Given the description of an element on the screen output the (x, y) to click on. 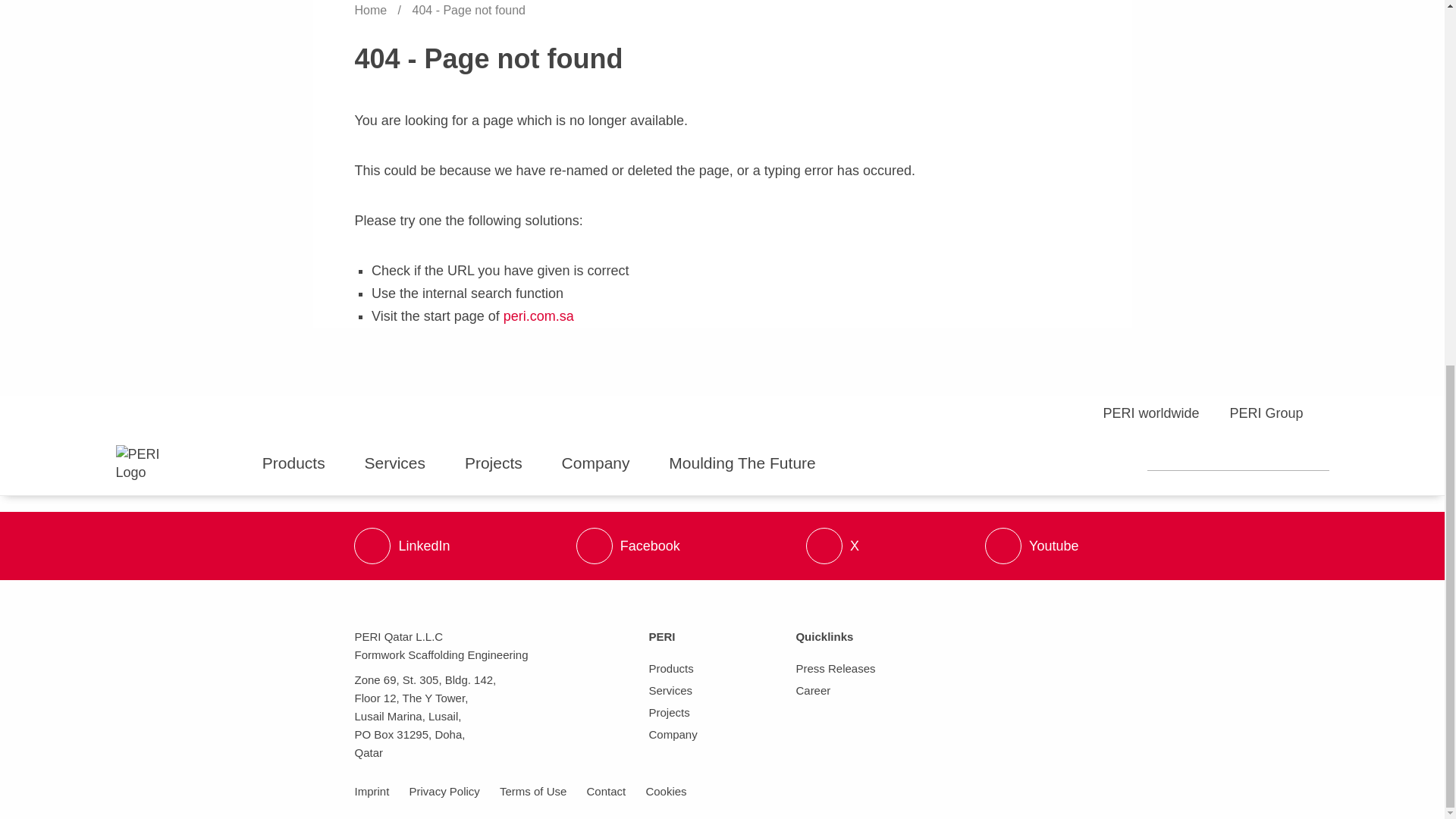
peri.com.sa (538, 315)
Company (604, 462)
Moulding The Future (750, 462)
Facebook (627, 545)
Home (371, 10)
PERI worldwide (1136, 413)
X (832, 545)
Products (302, 462)
Services (404, 462)
PERI Group (1263, 413)
Youtube (1031, 545)
Projects (502, 462)
LinkedIn (401, 545)
